Given the description of an element on the screen output the (x, y) to click on. 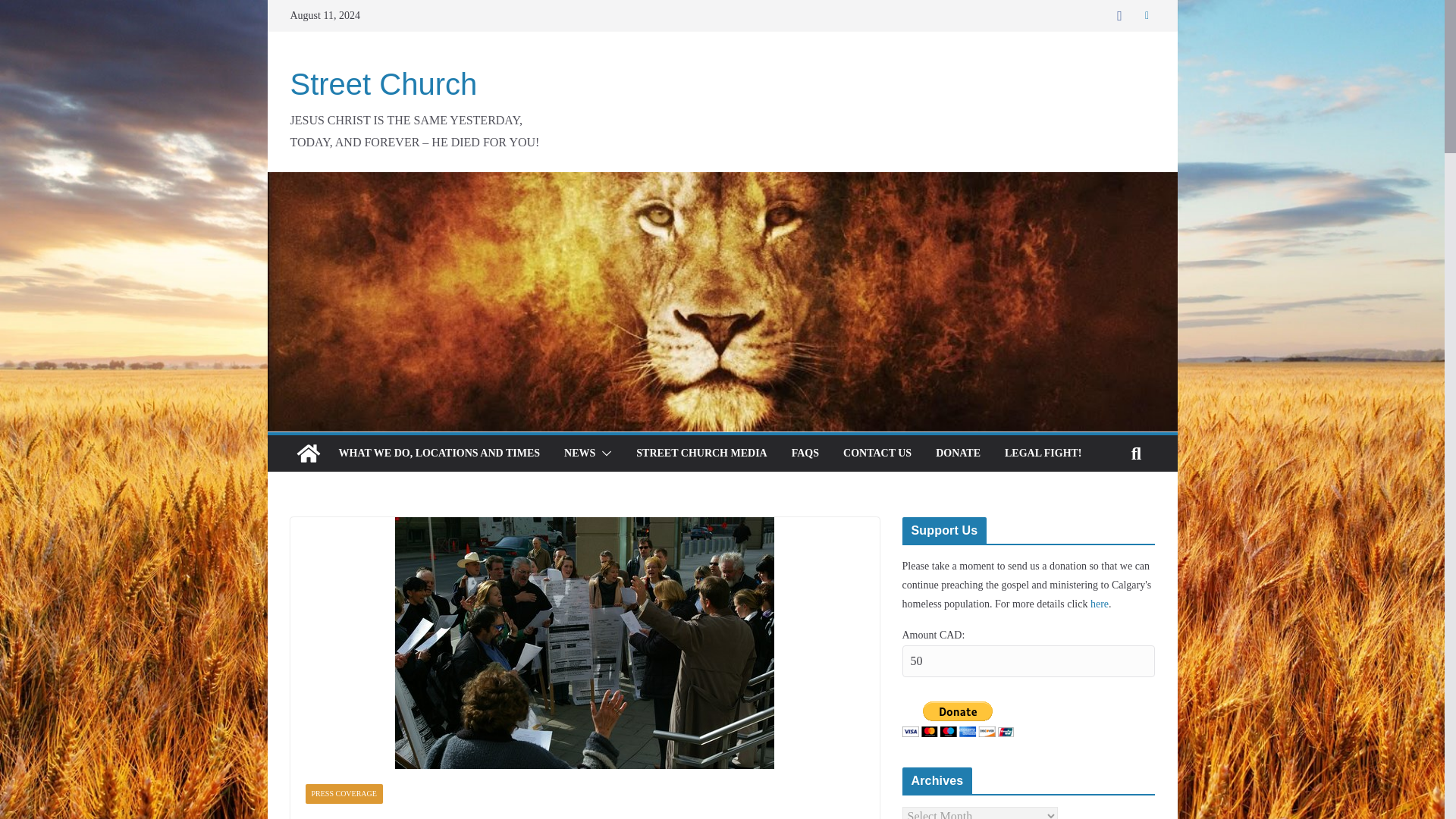
STREET CHURCH MEDIA (701, 453)
FAQS (805, 453)
Street Church (383, 83)
PRESS COVERAGE (342, 793)
Street Church (307, 452)
LEGAL FIGHT! (1042, 453)
Street Church (383, 83)
DONATE (957, 453)
WHAT WE DO, LOCATIONS AND TIMES (438, 453)
here (1099, 603)
